Given the description of an element on the screen output the (x, y) to click on. 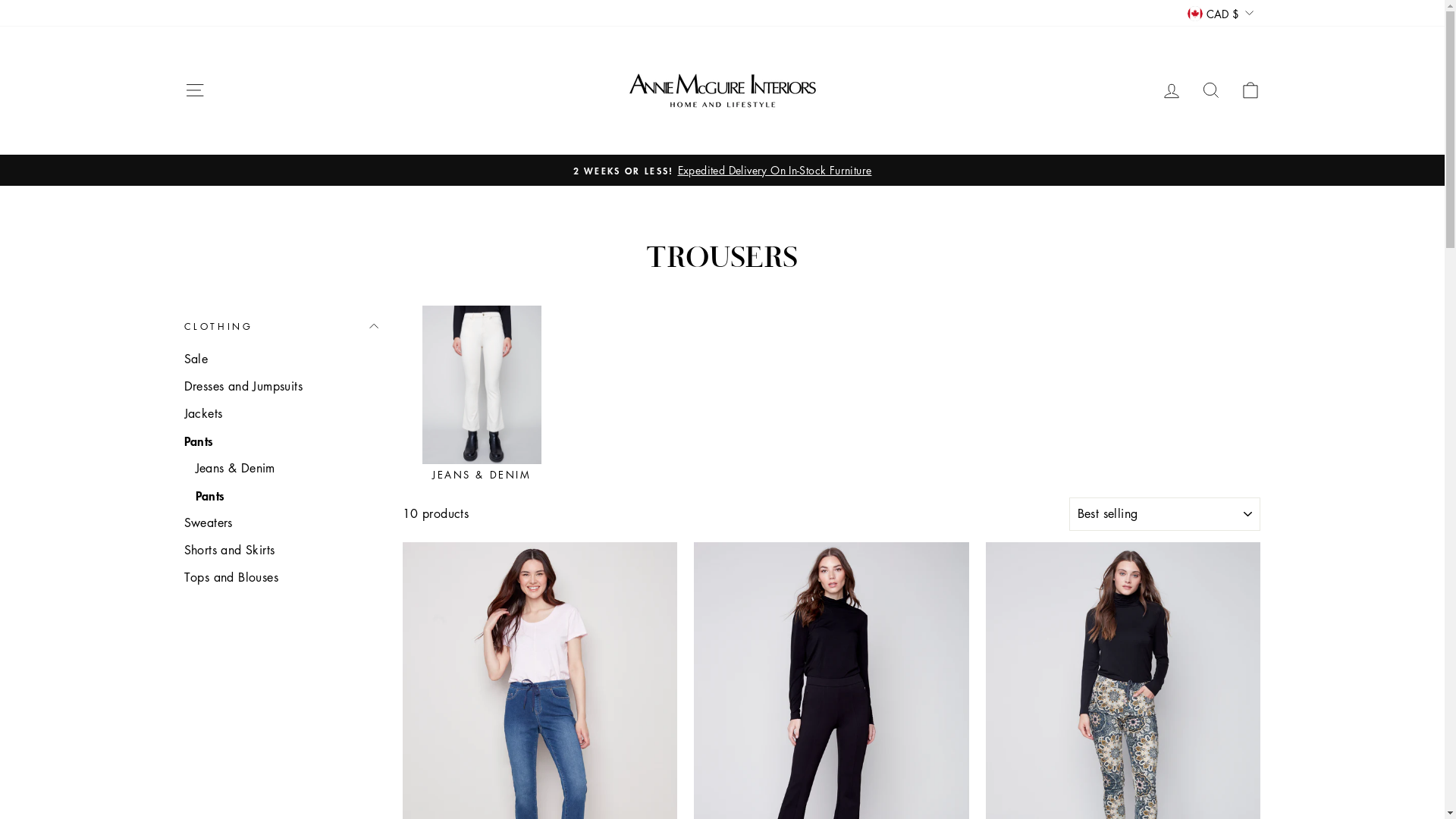
Pants Element type: text (280, 440)
Sale Element type: text (280, 358)
JEANS & DENIM Element type: text (481, 392)
Jeans & Denim Element type: text (286, 467)
CART Element type: text (1249, 90)
CLOTHING Element type: text (280, 325)
Jackets Element type: text (280, 413)
CAD $ Element type: text (1220, 13)
2 WEEKS OR LESS!Expedited Delivery On In-Stock Furniture Element type: text (722, 170)
LOG IN Element type: text (1170, 90)
Skip to content Element type: text (0, 0)
Sweaters Element type: text (280, 522)
SITE NAVIGATION Element type: text (193, 90)
Pants Element type: text (286, 495)
Shorts and Skirts Element type: text (280, 549)
SEARCH Element type: text (1210, 90)
Tops and Blouses Element type: text (280, 576)
Dresses and Jumpsuits Element type: text (280, 385)
